Given the description of an element on the screen output the (x, y) to click on. 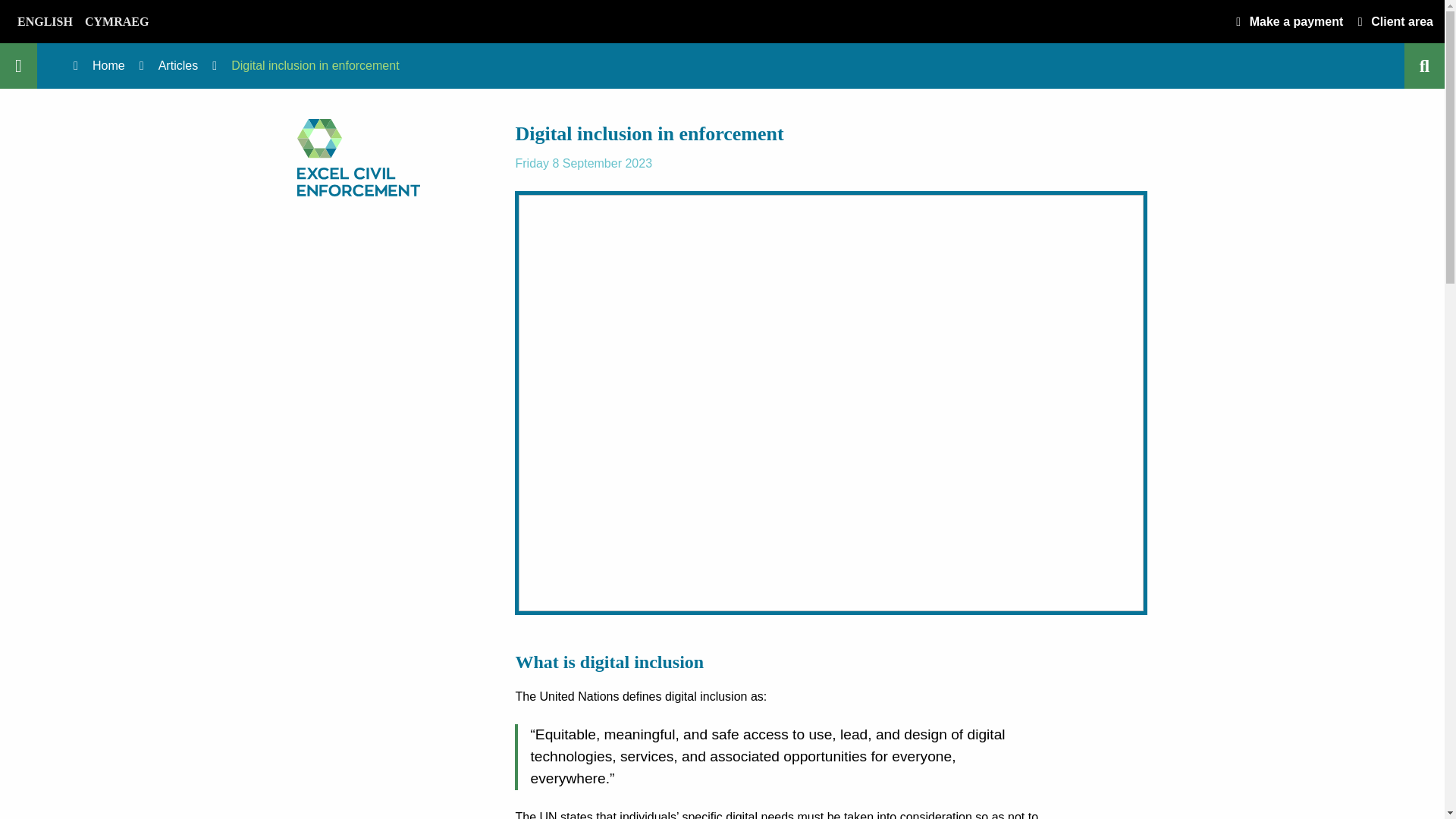
Home (109, 65)
Make a payment (1286, 21)
Client area (1392, 21)
Articles (178, 65)
